Given the description of an element on the screen output the (x, y) to click on. 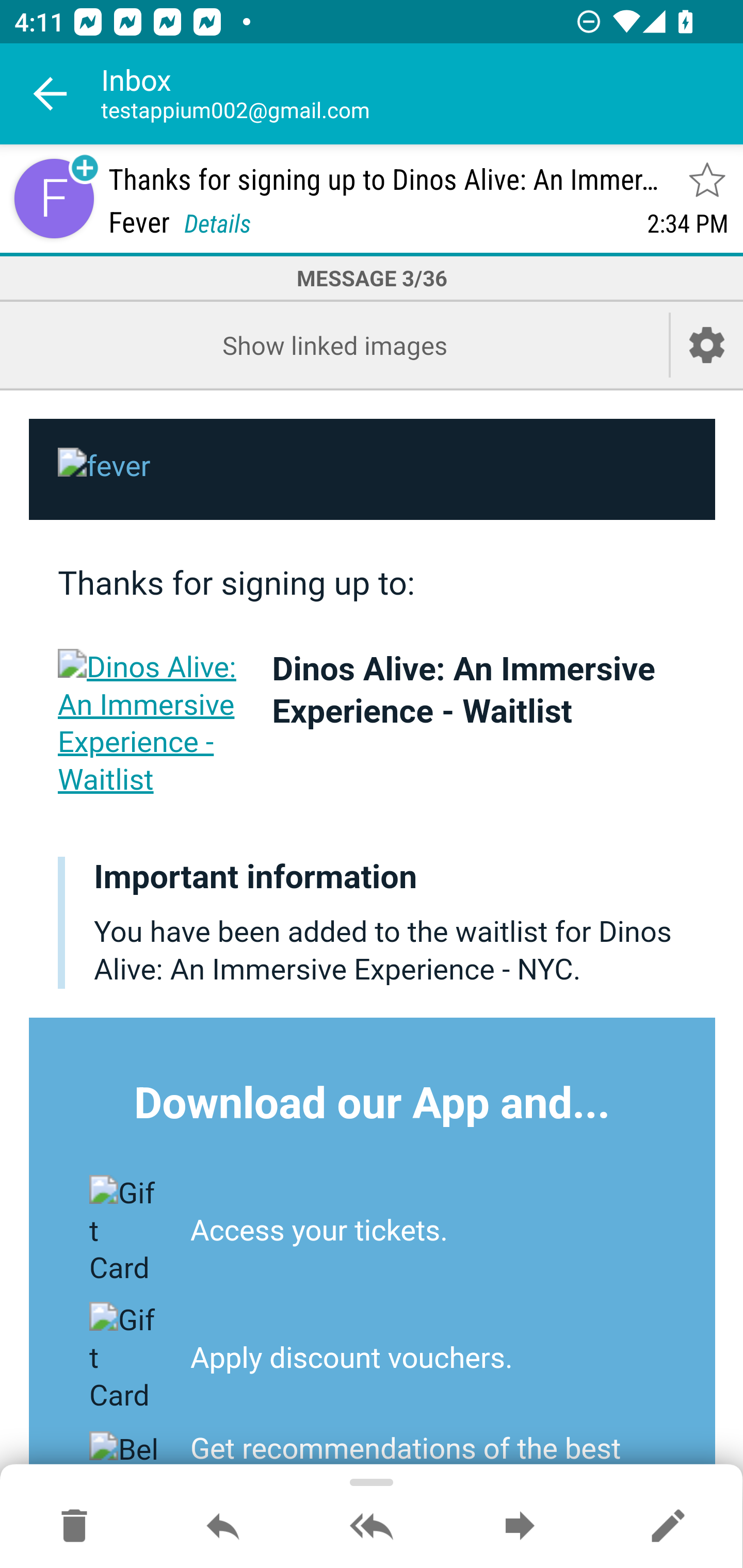
Navigate up (50, 93)
Inbox testappium002@gmail.com (422, 93)
Sender contact button (53, 198)
Show linked images (334, 344)
Account setup (706, 344)
fever (372, 470)
Dinos Alive: An Immersive Experience - Waitlist (150, 723)
Dinos Alive: An Immersive Experience - Waitlist (463, 689)
Move to Deleted (74, 1527)
Reply (222, 1527)
Reply all (371, 1527)
Forward (519, 1527)
Reply as new (667, 1527)
